Given the description of an element on the screen output the (x, y) to click on. 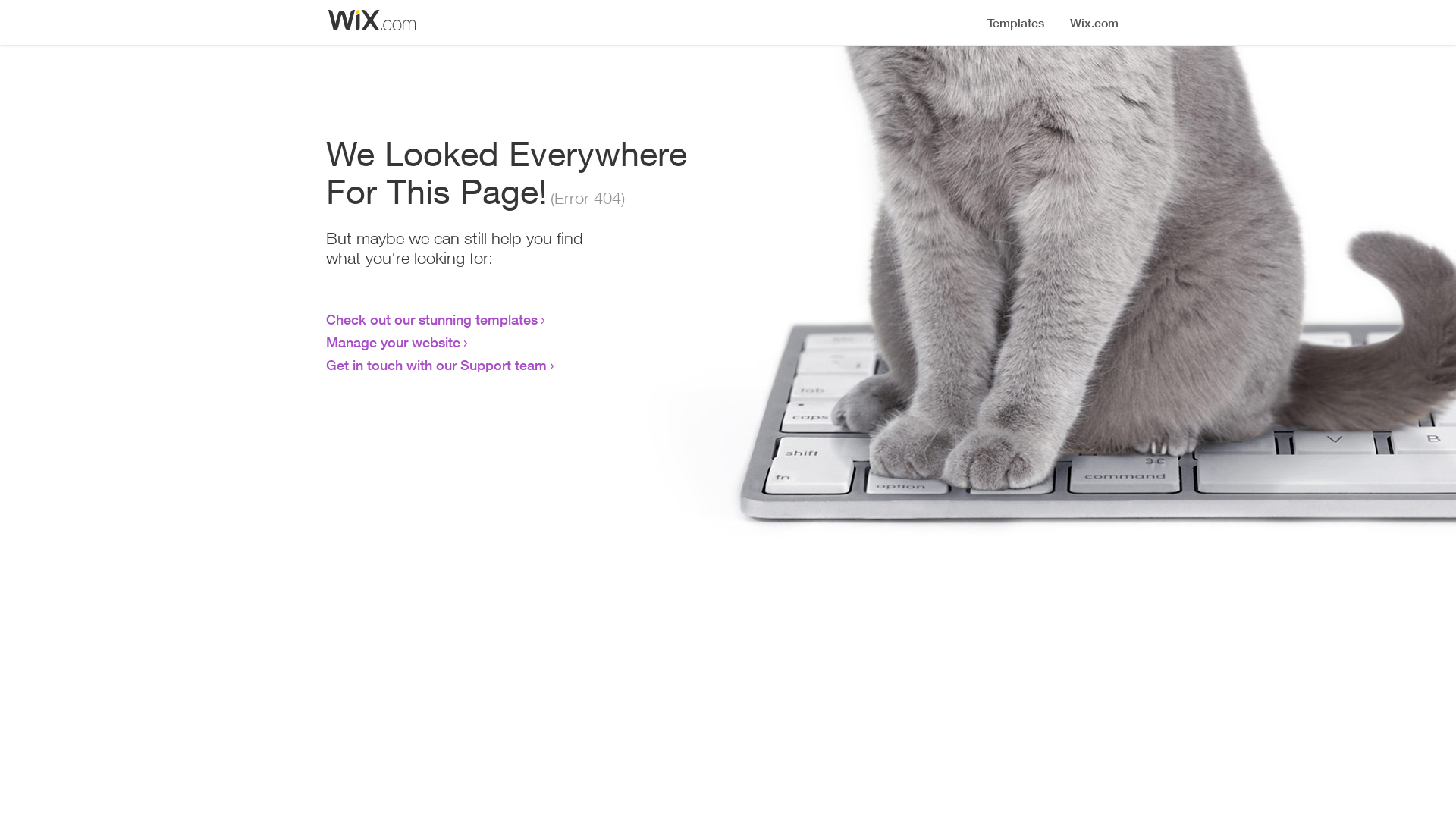
Manage your website Element type: text (393, 341)
Get in touch with our Support team Element type: text (436, 364)
Check out our stunning templates Element type: text (431, 318)
